Given the description of an element on the screen output the (x, y) to click on. 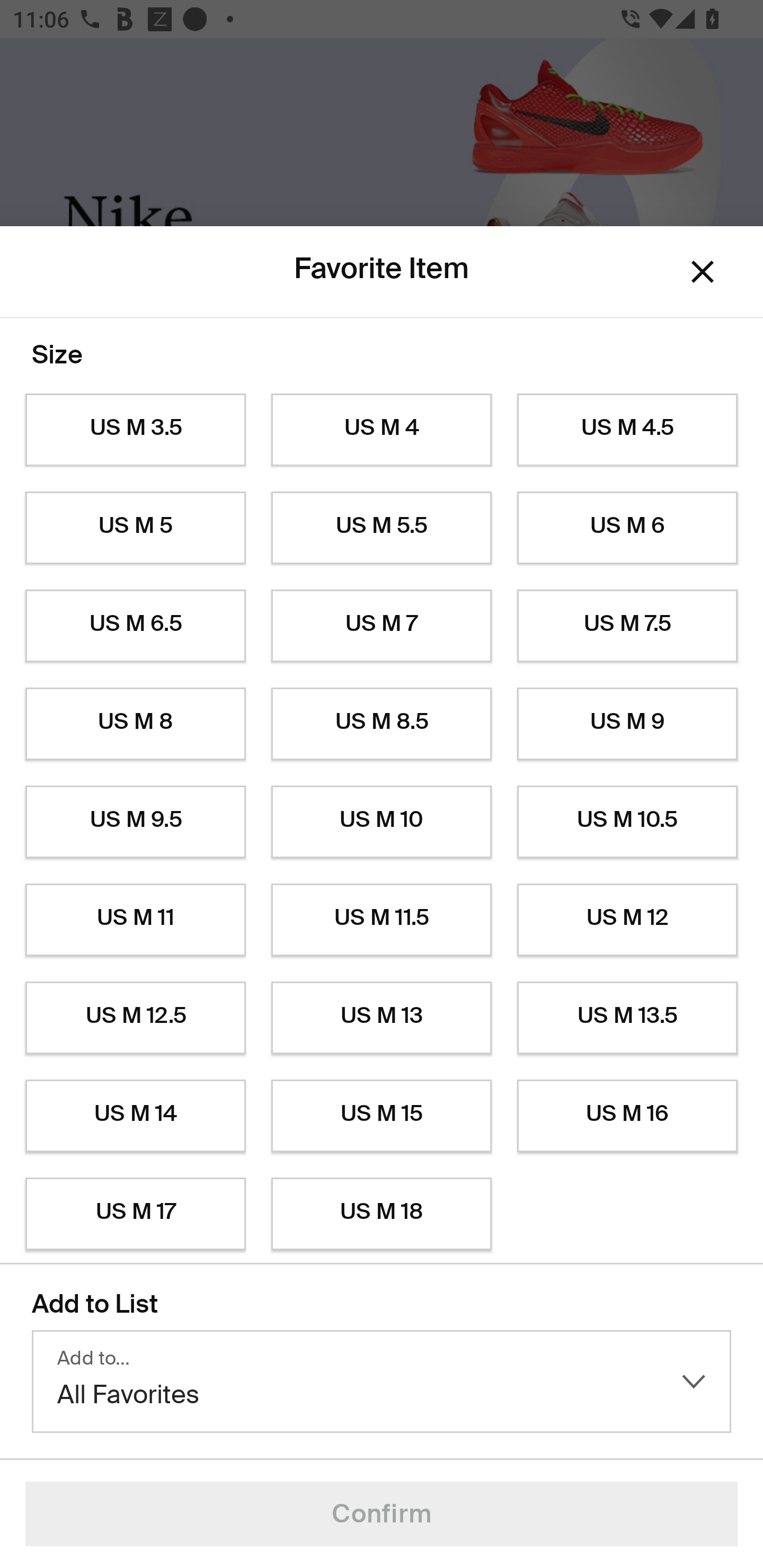
Dismiss (702, 271)
US M 3.5 (135, 430)
US M 4 (381, 430)
US M 4.5 (627, 430)
US M 5 (135, 527)
US M 5.5 (381, 527)
US M 6 (627, 527)
US M 6.5 (135, 626)
US M 7 (381, 626)
US M 7.5 (627, 626)
US M 8 (135, 724)
US M 8.5 (381, 724)
US M 9 (627, 724)
US M 9.5 (135, 822)
US M 10 (381, 822)
US M 10.5 (627, 822)
US M 11 (135, 919)
US M 11.5 (381, 919)
US M 12 (627, 919)
US M 12.5 (135, 1018)
US M 13 (381, 1018)
US M 13.5 (627, 1018)
US M 14 (135, 1116)
US M 15 (381, 1116)
US M 16 (627, 1116)
US M 17 (135, 1214)
US M 18 (381, 1214)
Add to… All Favorites (381, 1381)
Confirm (381, 1513)
